Given the description of an element on the screen output the (x, y) to click on. 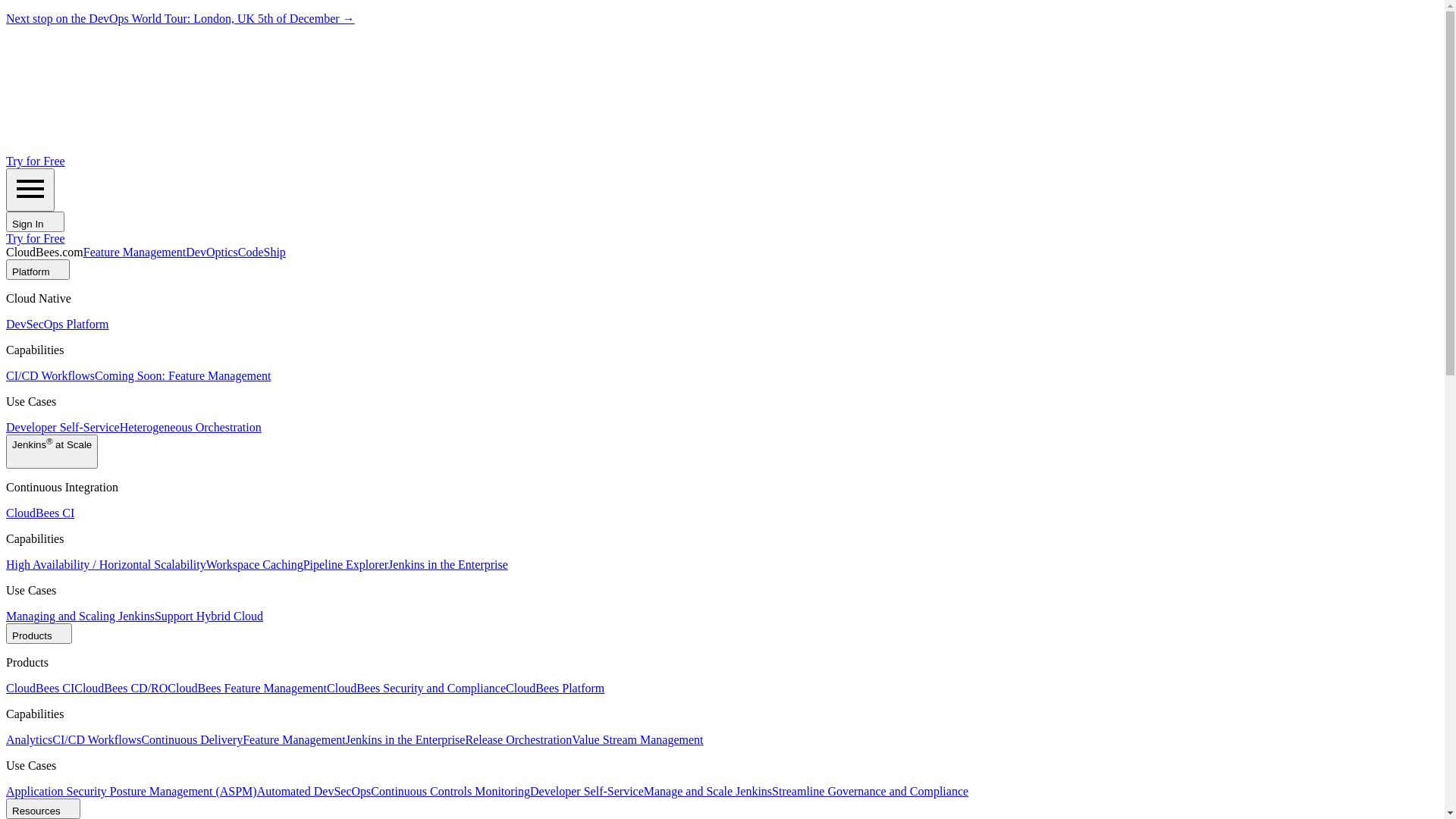
Jenkins in the Enterprise Element type: text (448, 564)
DevOptics Element type: text (211, 251)
Try for Free Element type: text (35, 160)
Release Orchestration Element type: text (517, 739)
CloudBees CI Element type: text (40, 512)
Continuous Controls Monitoring Element type: text (450, 790)
Streamline Governance and Compliance Element type: text (869, 790)
Pipeline Explorer Element type: text (345, 564)
Value Stream Management Element type: text (636, 739)
CloudBees CD/RO Element type: text (120, 687)
Workspace Caching Element type: text (254, 564)
CloudBees Security and Compliance Element type: text (415, 687)
Developer Self-Service Element type: text (62, 426)
Developer Self-Service Element type: text (586, 790)
Jenkins in the Enterprise Element type: text (405, 739)
CI/CD Workflows Element type: text (96, 739)
Support Hybrid Cloud Element type: text (208, 615)
CloudBees CI Element type: text (40, 687)
Continuous Delivery Element type: text (191, 739)
Feature Management Element type: text (293, 739)
Feature Management Element type: text (134, 251)
Try for Free Element type: text (35, 238)
Platform Element type: text (37, 269)
Manage and Scale Jenkins Element type: text (707, 790)
Heterogeneous Orchestration Element type: text (190, 426)
Sign In Element type: text (35, 221)
Coming Soon: Feature Management Element type: text (182, 375)
CI/CD Workflows Element type: text (50, 375)
Application Security Posture Management (ASPM) Element type: text (131, 790)
High Availability / Horizontal Scalability Element type: text (106, 564)
DevSecOps Platform Element type: text (57, 323)
Analytics Element type: text (29, 739)
Products Element type: text (39, 633)
CodeShip Element type: text (261, 251)
CloudBees Platform Element type: text (554, 687)
CloudBees Feature Management Element type: text (246, 687)
Automated DevSecOps Element type: text (314, 790)
Managing and Scaling Jenkins Element type: text (80, 615)
